Given the description of an element on the screen output the (x, y) to click on. 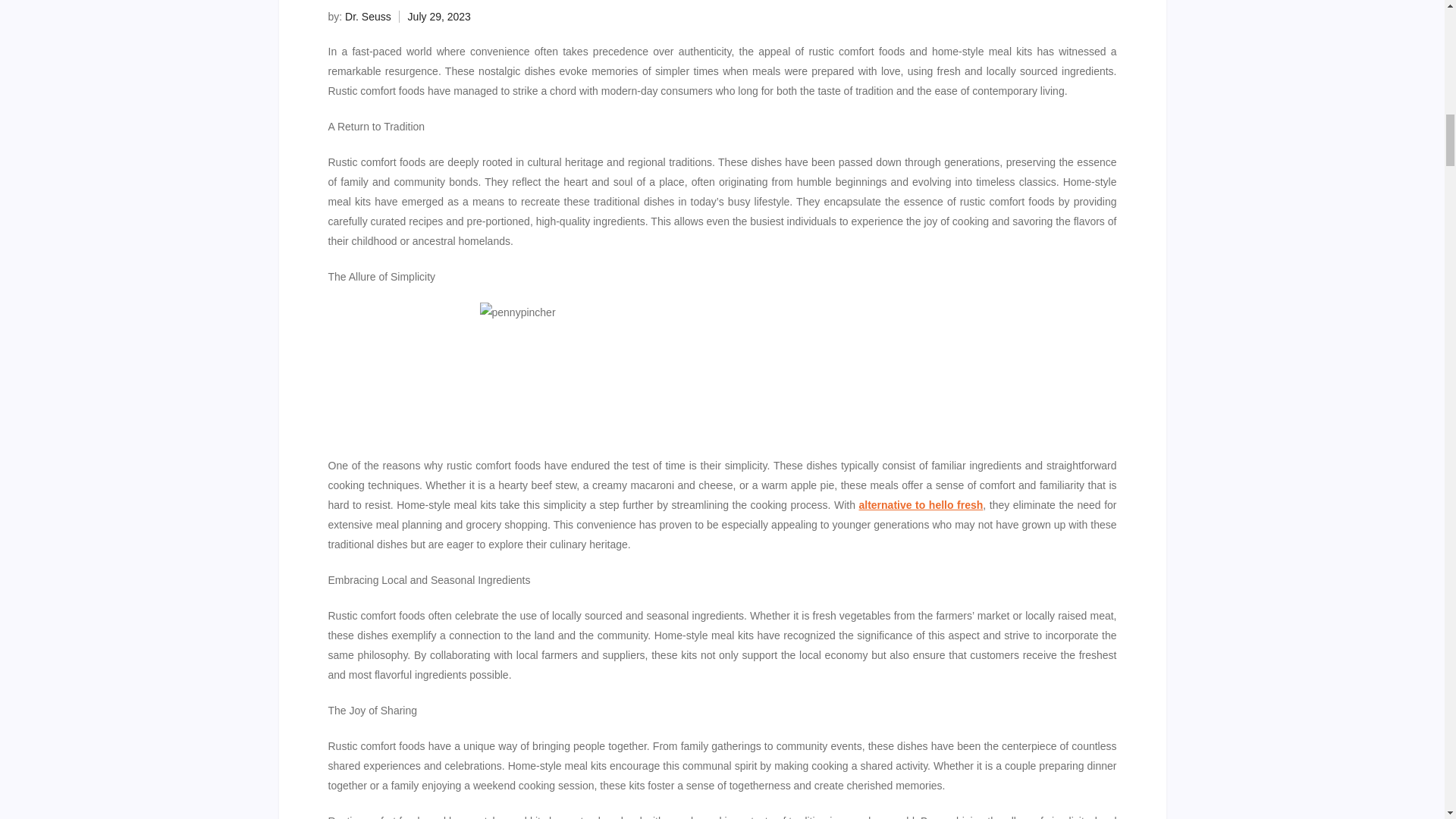
July 29, 2023 (438, 16)
alternative to hello fresh (920, 504)
Dr. Seuss (368, 16)
